Given the description of an element on the screen output the (x, y) to click on. 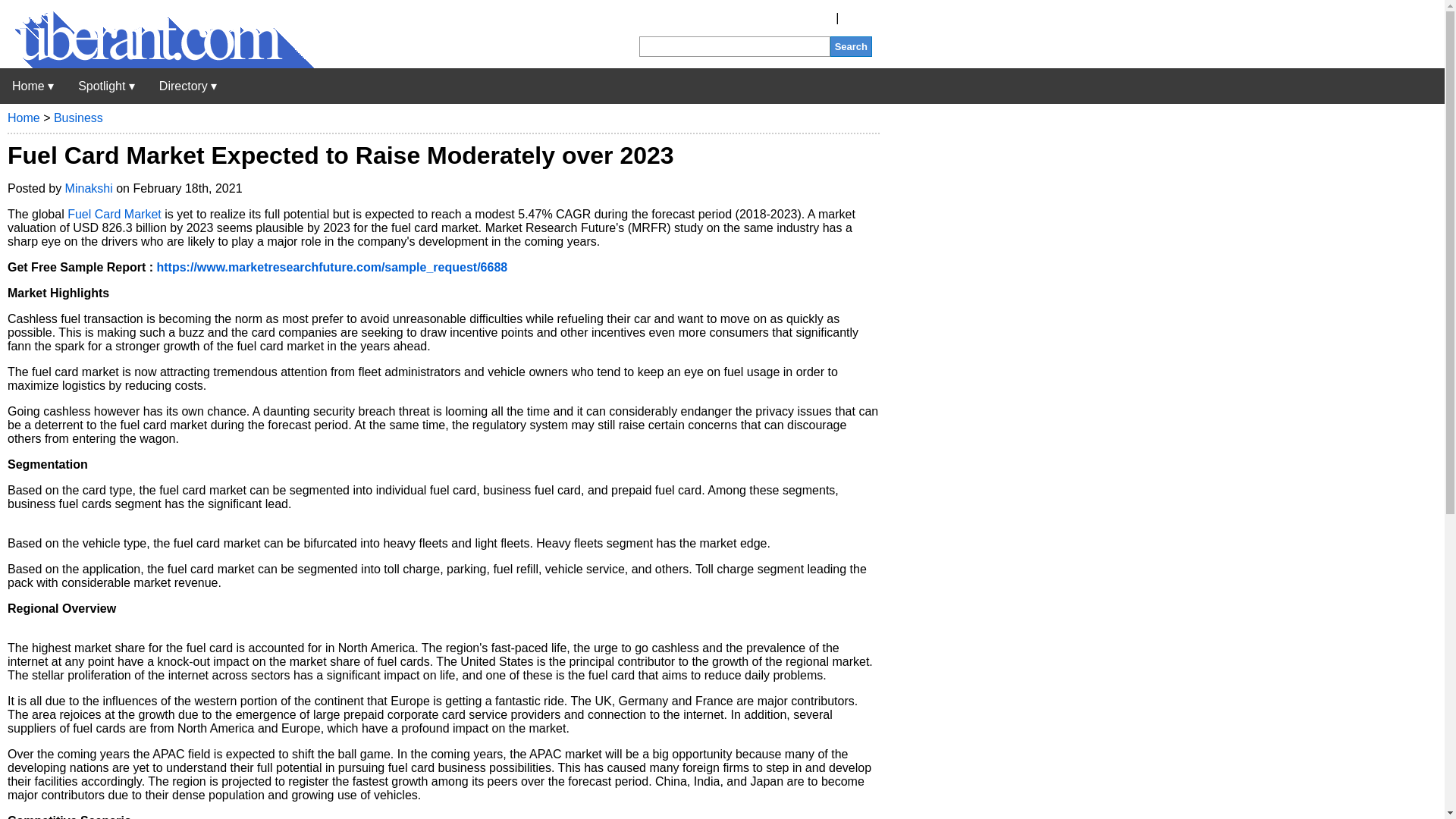
Search (850, 46)
Uberant (157, 63)
Search (850, 46)
Register (809, 17)
Login (857, 17)
Uberant (32, 85)
